Given the description of an element on the screen output the (x, y) to click on. 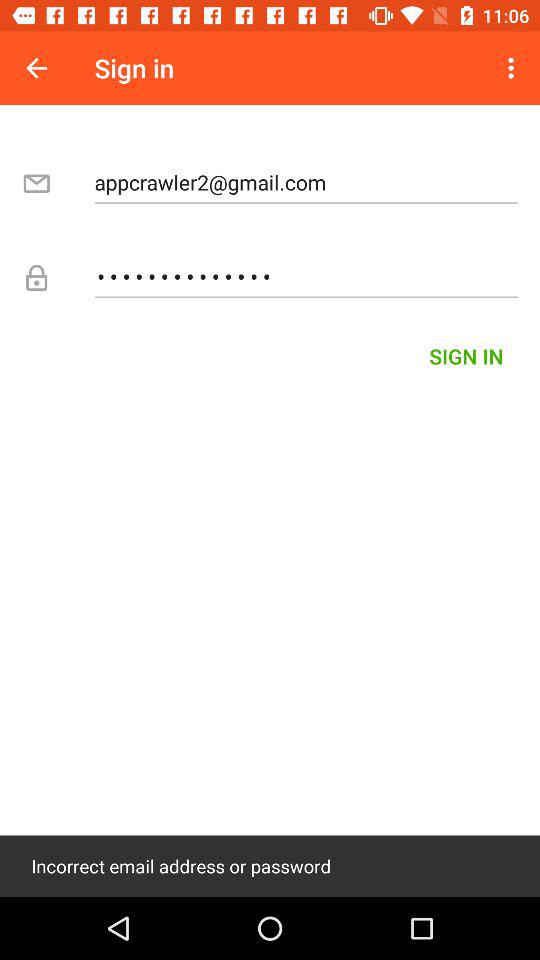
launch the item to the right of sign in icon (513, 67)
